Given the description of an element on the screen output the (x, y) to click on. 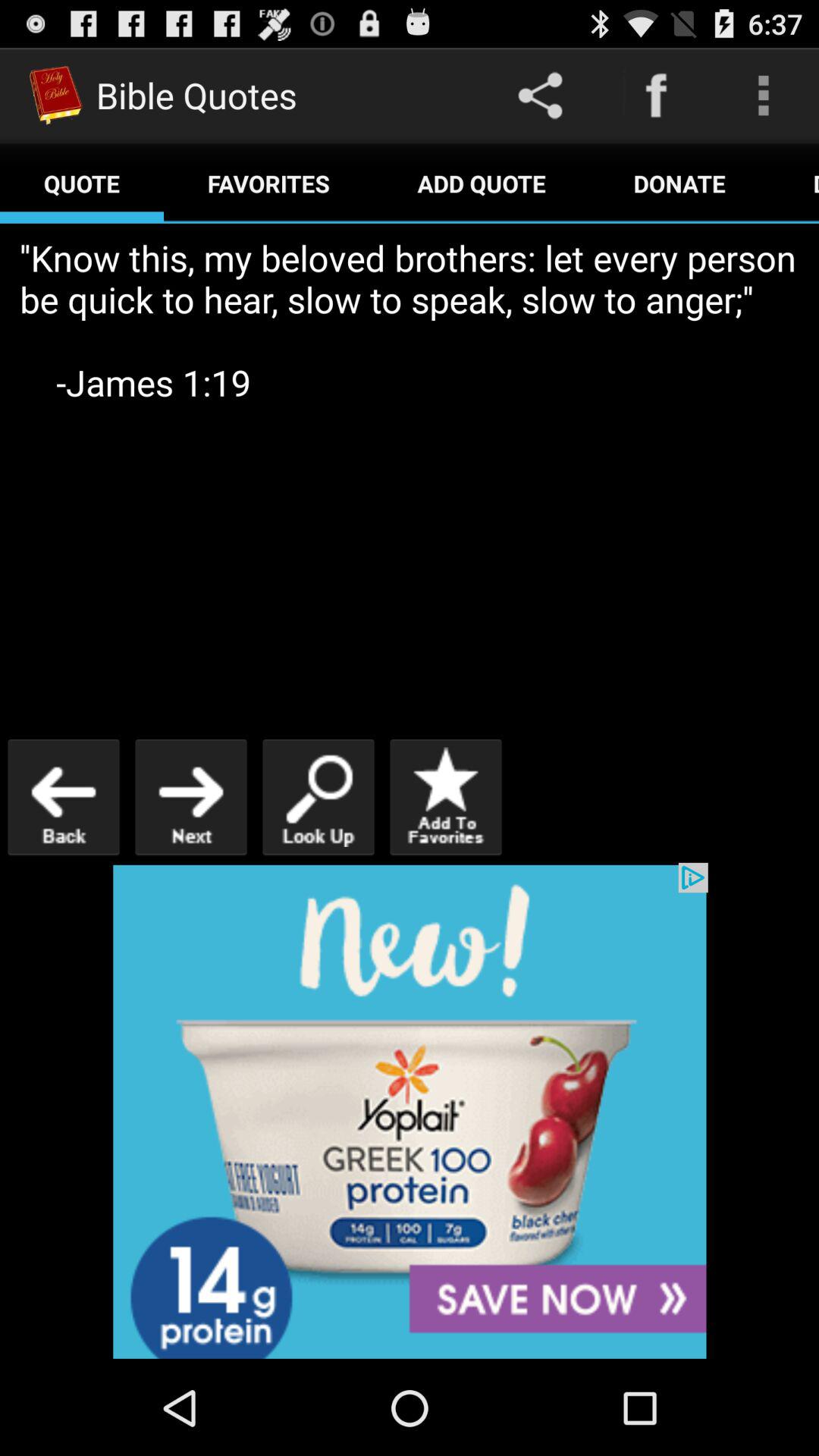
add to favourites (445, 796)
